Given the description of an element on the screen output the (x, y) to click on. 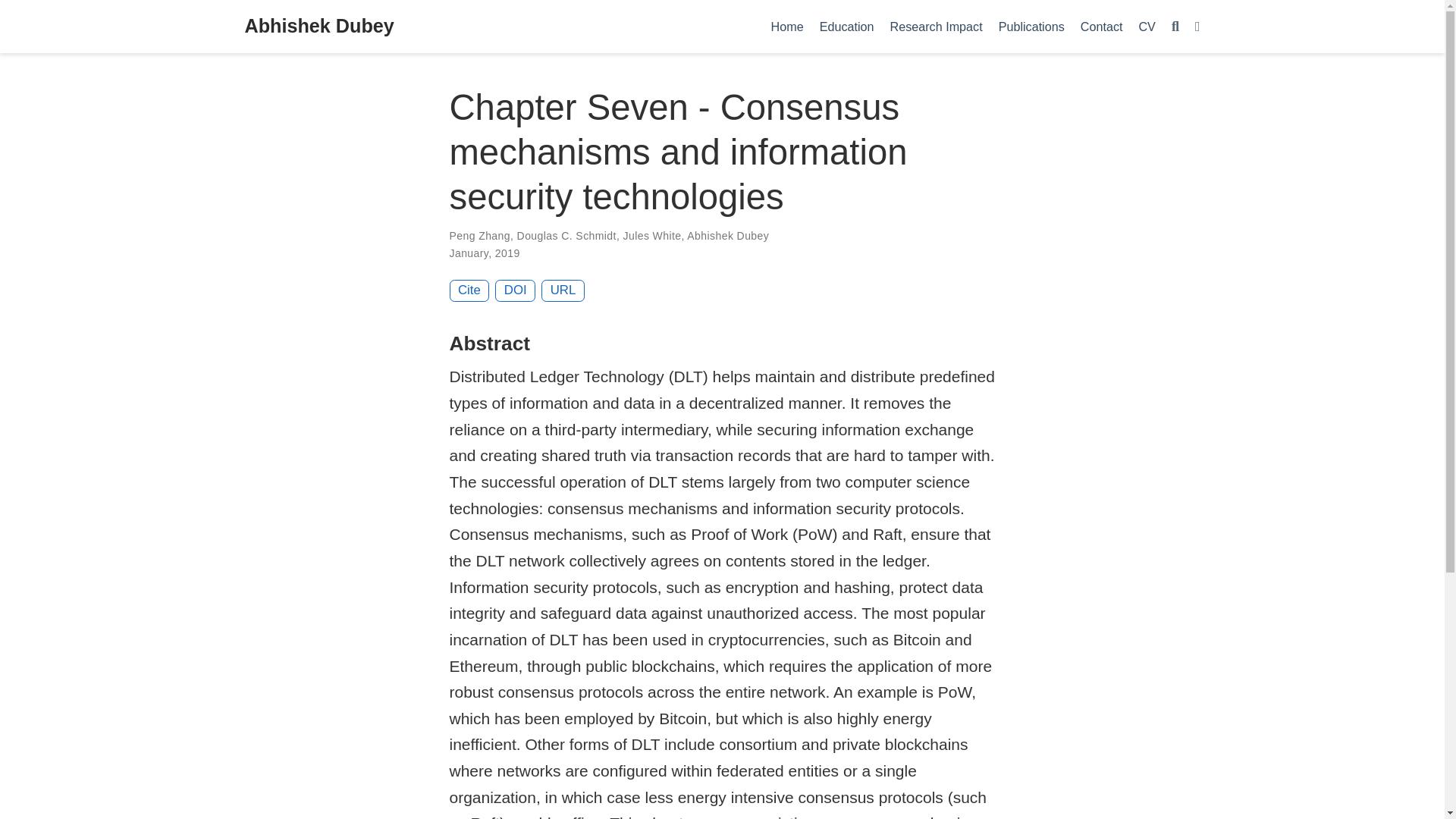
Abhishek Dubey (318, 26)
Home (786, 25)
Cite (468, 291)
DOI (515, 291)
Contact (1101, 25)
CV (1147, 25)
URL (563, 291)
Publications (1030, 25)
Research Impact (936, 25)
Education (846, 25)
